Given the description of an element on the screen output the (x, y) to click on. 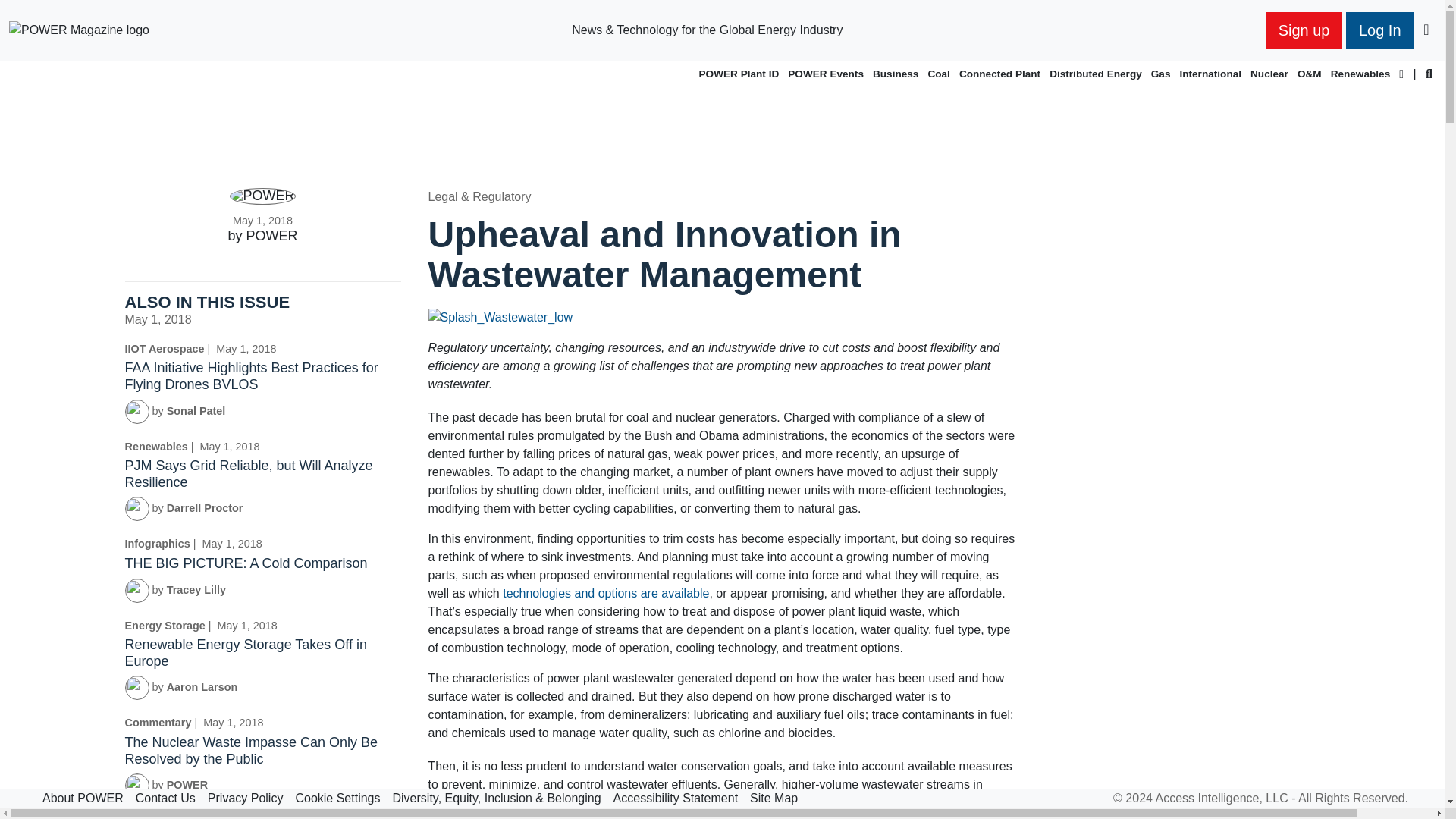
Sign up (1303, 30)
Log In (1379, 30)
Open Navigation (1425, 32)
